Given the description of an element on the screen output the (x, y) to click on. 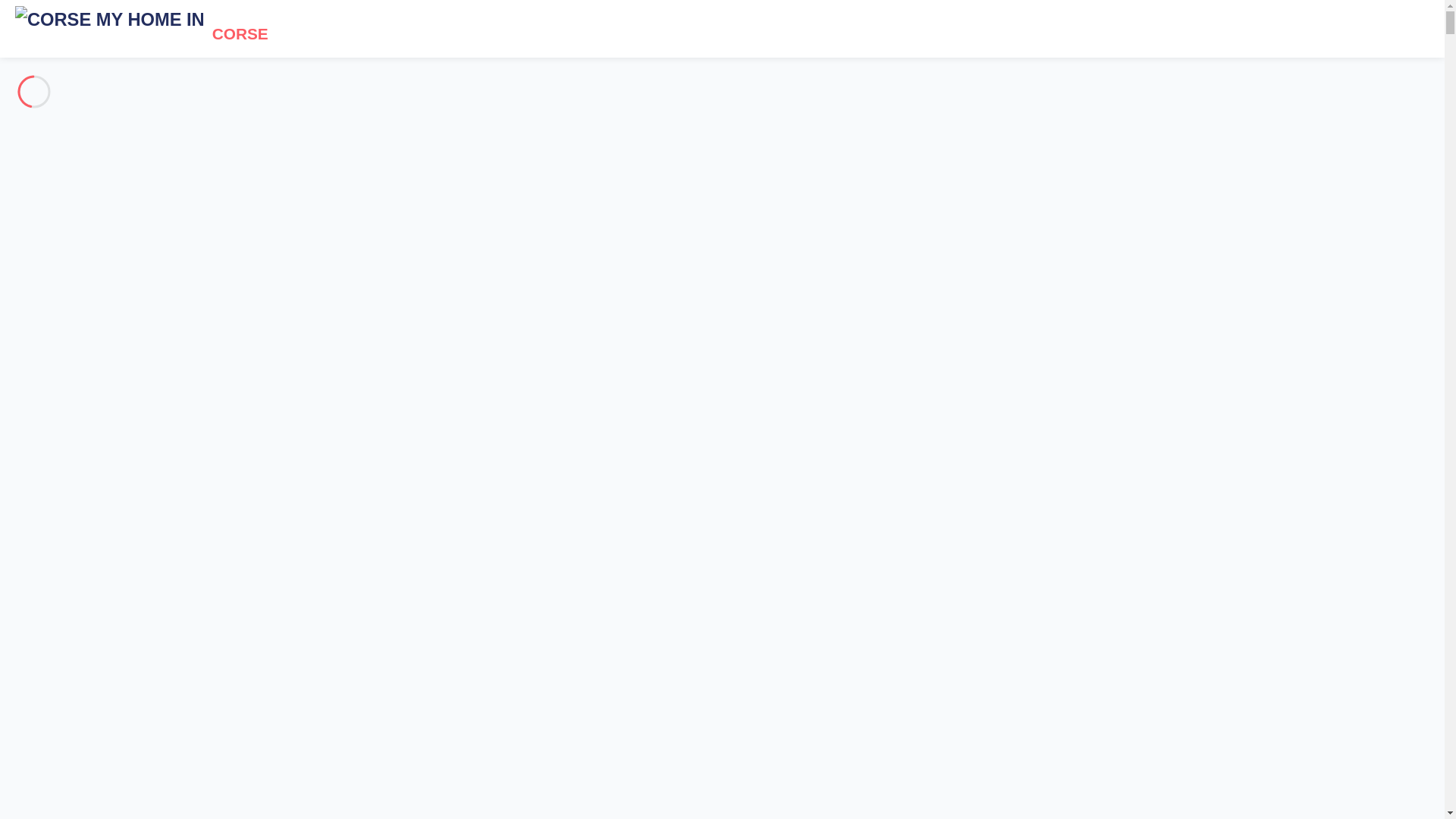
Corse My Home In (133, 26)
Corse My Home In  (109, 25)
CORSE (133, 26)
